Given the description of an element on the screen output the (x, y) to click on. 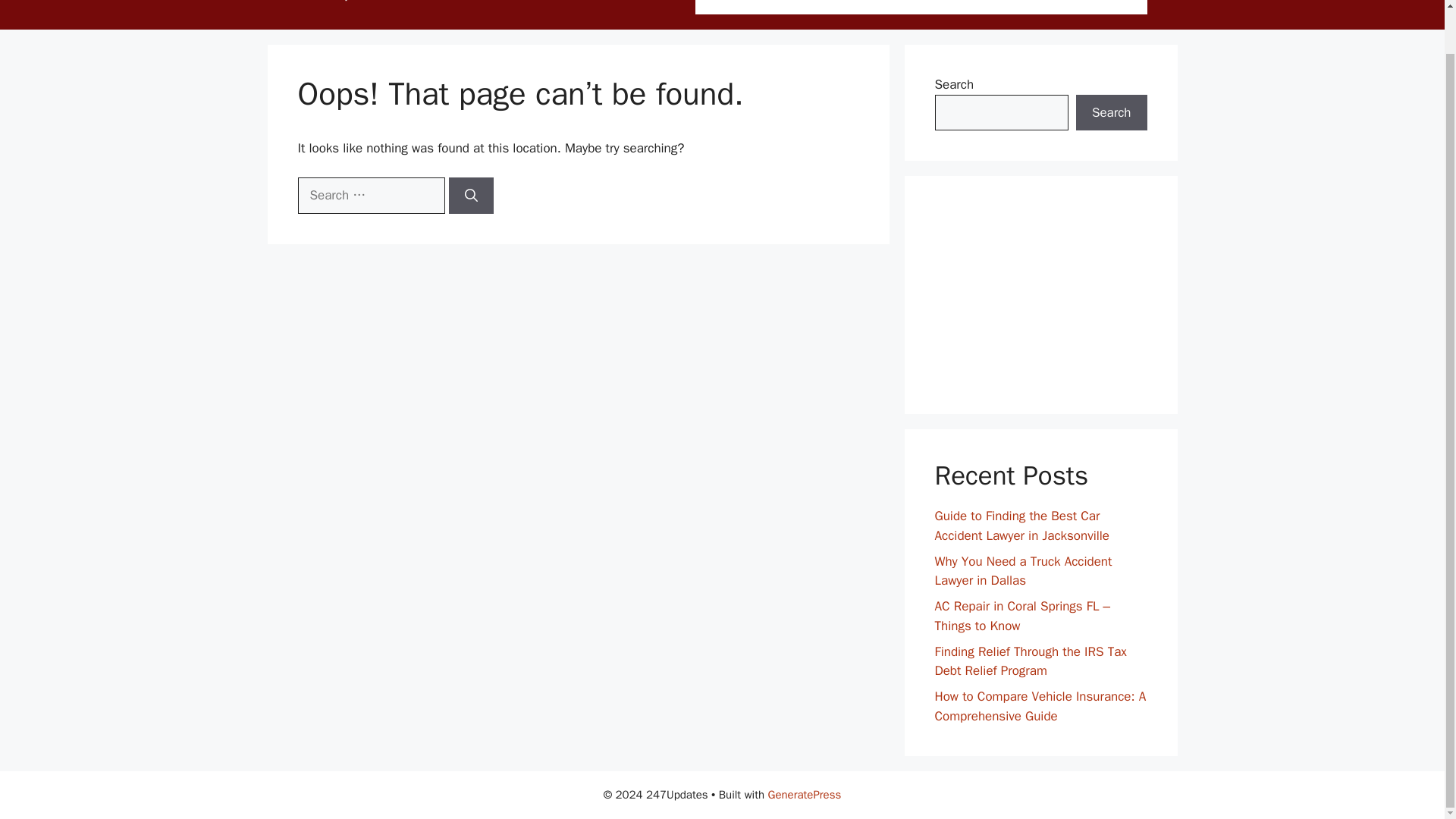
Search for: (370, 195)
Search (1111, 113)
Home (724, 7)
GeneratePress (804, 794)
247Updates (348, 1)
Why You Need a Truck Accident Lawyer in Dallas (1023, 570)
Legal (1118, 7)
Contact Us (968, 7)
Finding Relief Through the IRS Tax Debt Relief Program (1029, 661)
